Given the description of an element on the screen output the (x, y) to click on. 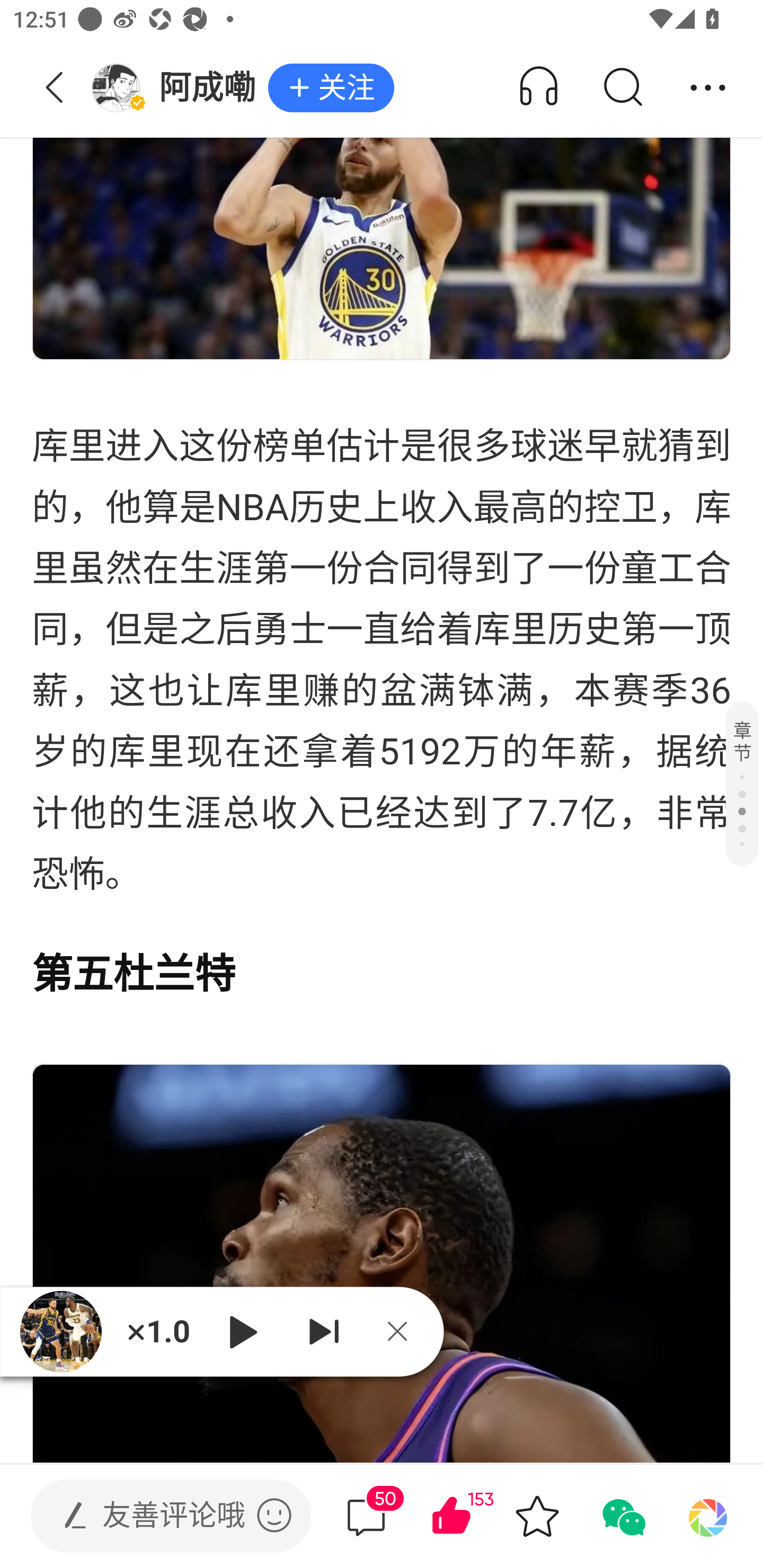
新闻图片 (381, 180)
阿成嘞 (179, 87)
搜索  (622, 87)
分享  (707, 87)
 返回 (54, 87)
 关注 (330, 88)
章节 (741, 782)
新闻图片 (381, 1262)
 播放 (242, 1330)
 下一个 (323, 1330)
 关闭 (404, 1330)
播放器 (60, 1331)
 1.0 (157, 1330)
发表评论  友善评论哦 发表评论  (155, 1516)
50评论  50 评论 (365, 1516)
已赞 (476, 1516)
收藏  (536, 1516)
分享到微信  (622, 1516)
分享到朋友圈 (707, 1516)
 (274, 1515)
